Given the description of an element on the screen output the (x, y) to click on. 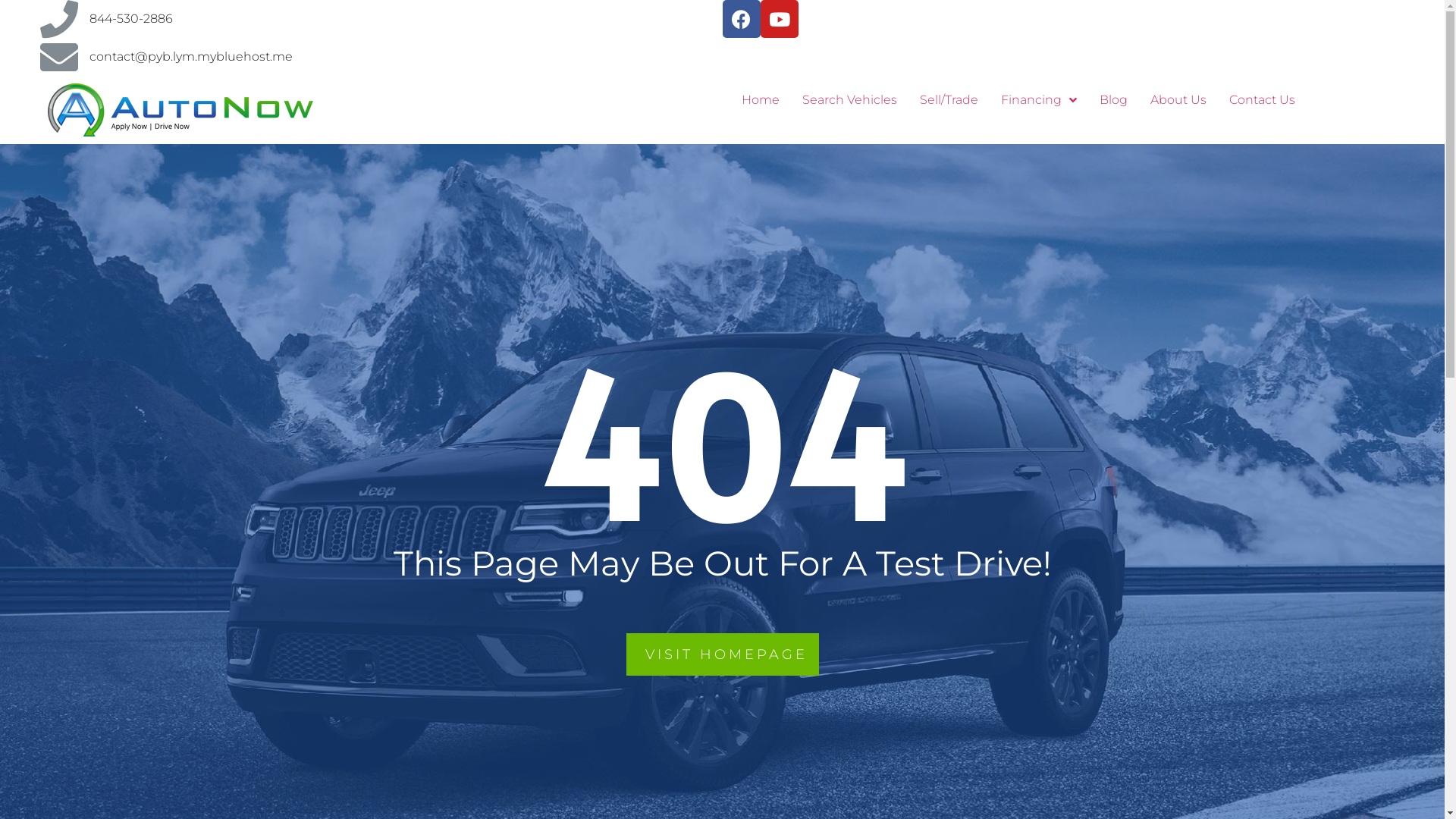
Contact Us Element type: text (1261, 99)
Sell/Trade Element type: text (948, 99)
Home Element type: text (759, 99)
Call Auto Now Element type: hover (58, 18)
Search Vehicles Element type: text (848, 99)
Email Auto Now Element type: hover (58, 56)
Blog Element type: text (1112, 99)
844-530-2886 Element type: text (130, 18)
About Us Element type: text (1178, 99)
contact@pyb.lym.mybluehost.me Element type: text (190, 56)
VISIT HOMEPAGE Element type: text (722, 654)
Financing Element type: text (1037, 99)
